Given the description of an element on the screen output the (x, y) to click on. 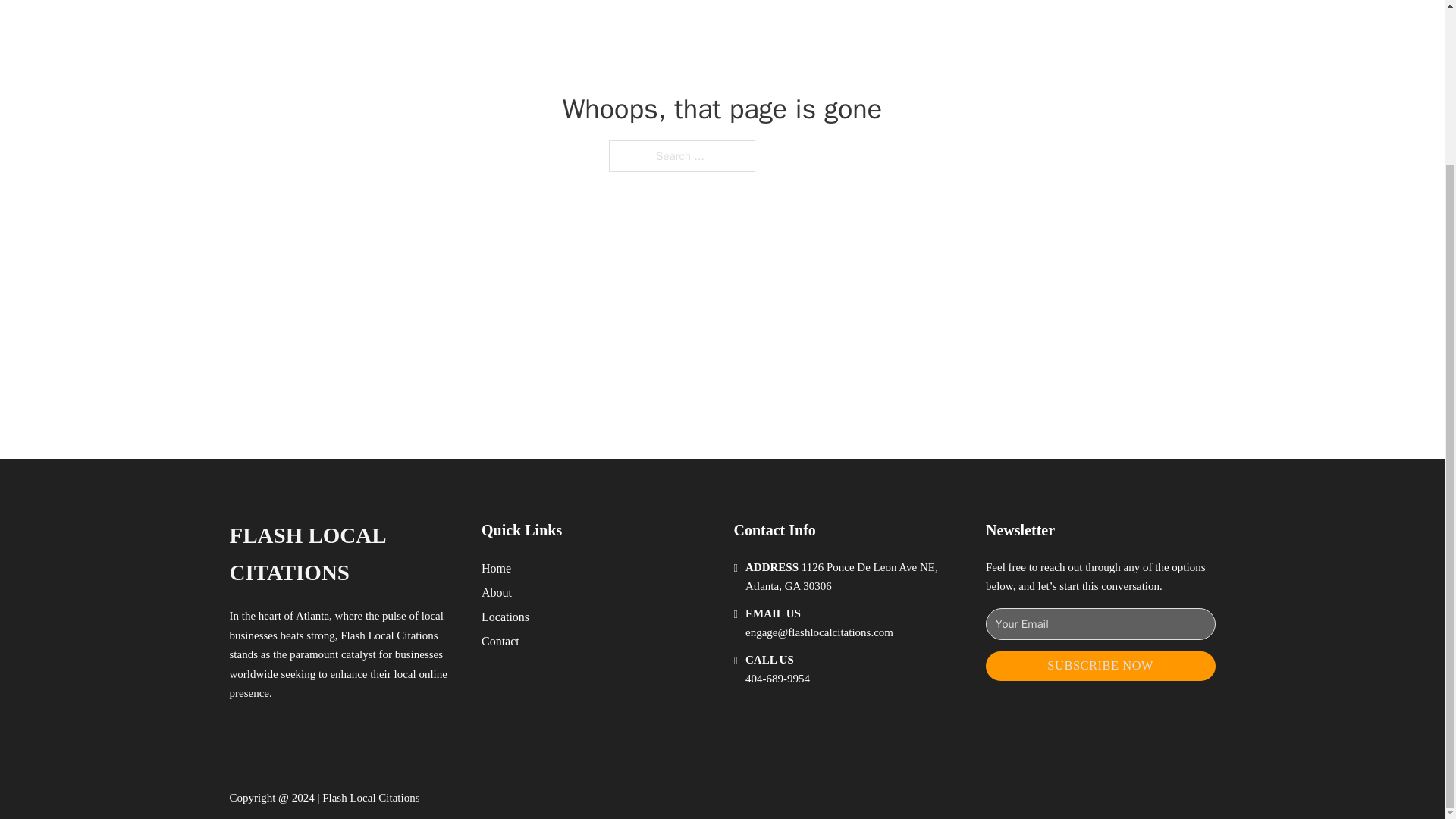
SUBSCRIBE NOW (1100, 665)
FLASH LOCAL CITATIONS (343, 554)
404-689-9954 (777, 678)
About (496, 592)
Contact (500, 640)
Home (496, 567)
Locations (505, 616)
